Given the description of an element on the screen output the (x, y) to click on. 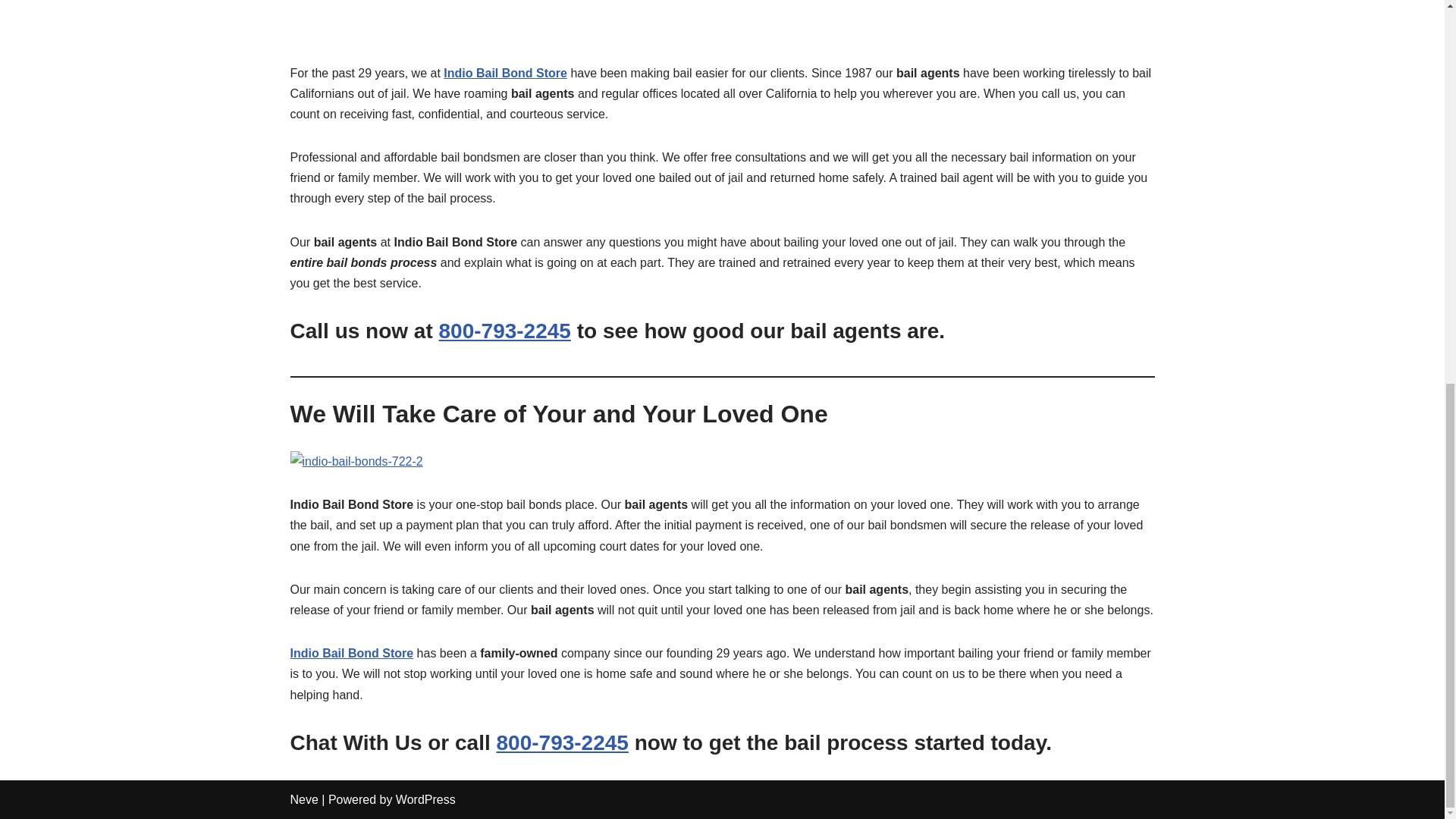
Indio Bail Bond Store (351, 653)
Indio Bail Bond Store (505, 72)
WordPress (425, 799)
800-793-2245 (562, 742)
800-793-2245 (504, 331)
We Will Take Care of Your and Your Loved One (355, 461)
Indio Bail Bond Store Has Been Helping Clients Since 1987 (721, 16)
Neve (303, 799)
